Given the description of an element on the screen output the (x, y) to click on. 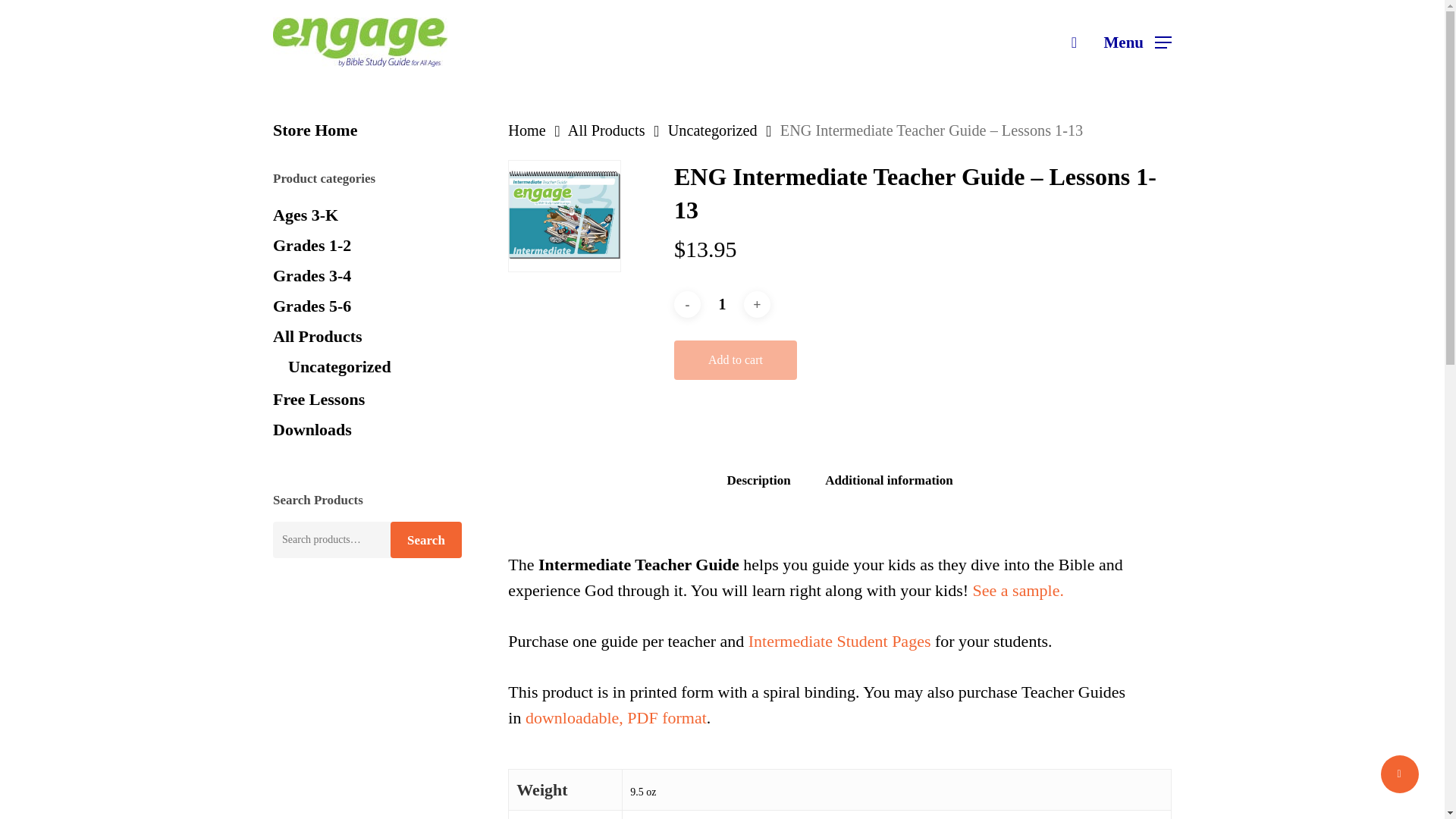
Downloads (367, 429)
Description (758, 481)
Home (526, 130)
Add to cart (735, 360)
Ages 3-K (367, 215)
Additional information (889, 481)
Grades 3-4 (367, 275)
Menu (1137, 41)
All Products (606, 130)
Grades 5-6 (367, 306)
